Given the description of an element on the screen output the (x, y) to click on. 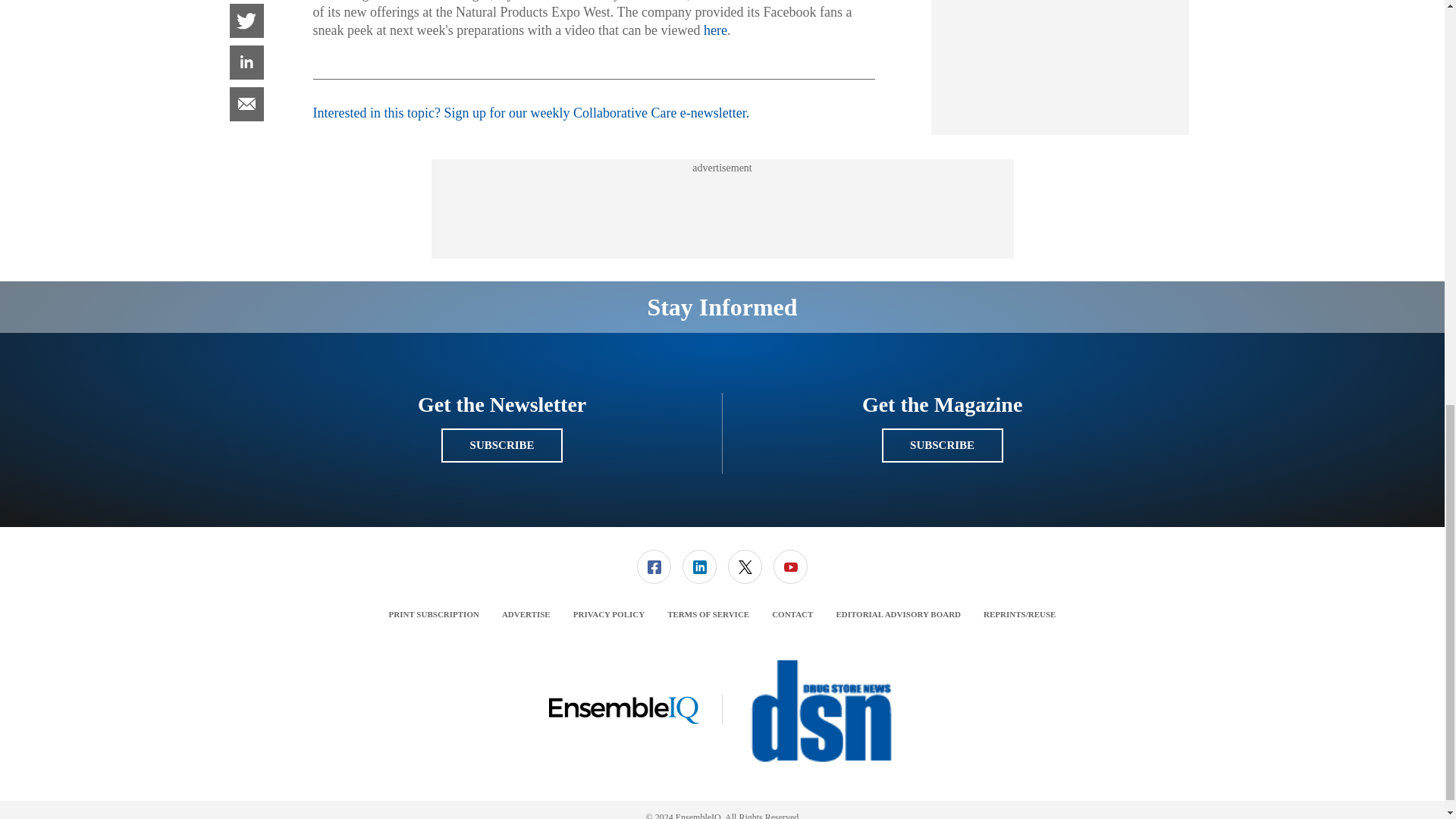
3rd party ad content (721, 209)
3rd party ad content (1059, 3)
SUBSCRIBE (942, 445)
here (714, 29)
SUBSCRIBE (501, 445)
